Given the description of an element on the screen output the (x, y) to click on. 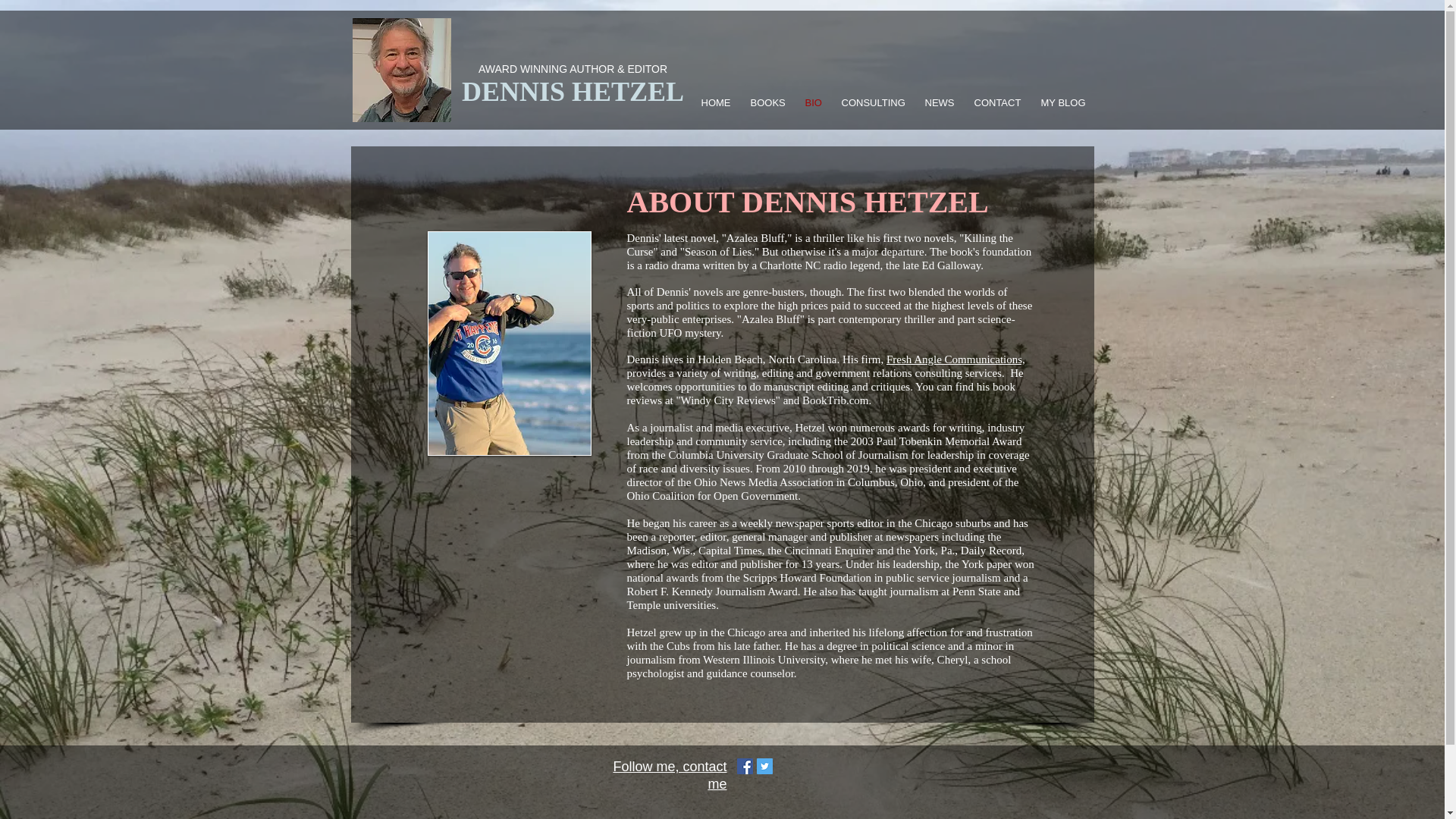
HOME (717, 102)
Follow me, contact me (669, 775)
DENNIS HETZEL (572, 91)
CONTACT (999, 102)
BIO (814, 102)
MY BLOG (1064, 102)
CONSULTING (873, 102)
DENNIS HETZEL 0001.jpg (400, 70)
Fresh Angle Communications, (955, 358)
NEWS (940, 102)
